Given the description of an element on the screen output the (x, y) to click on. 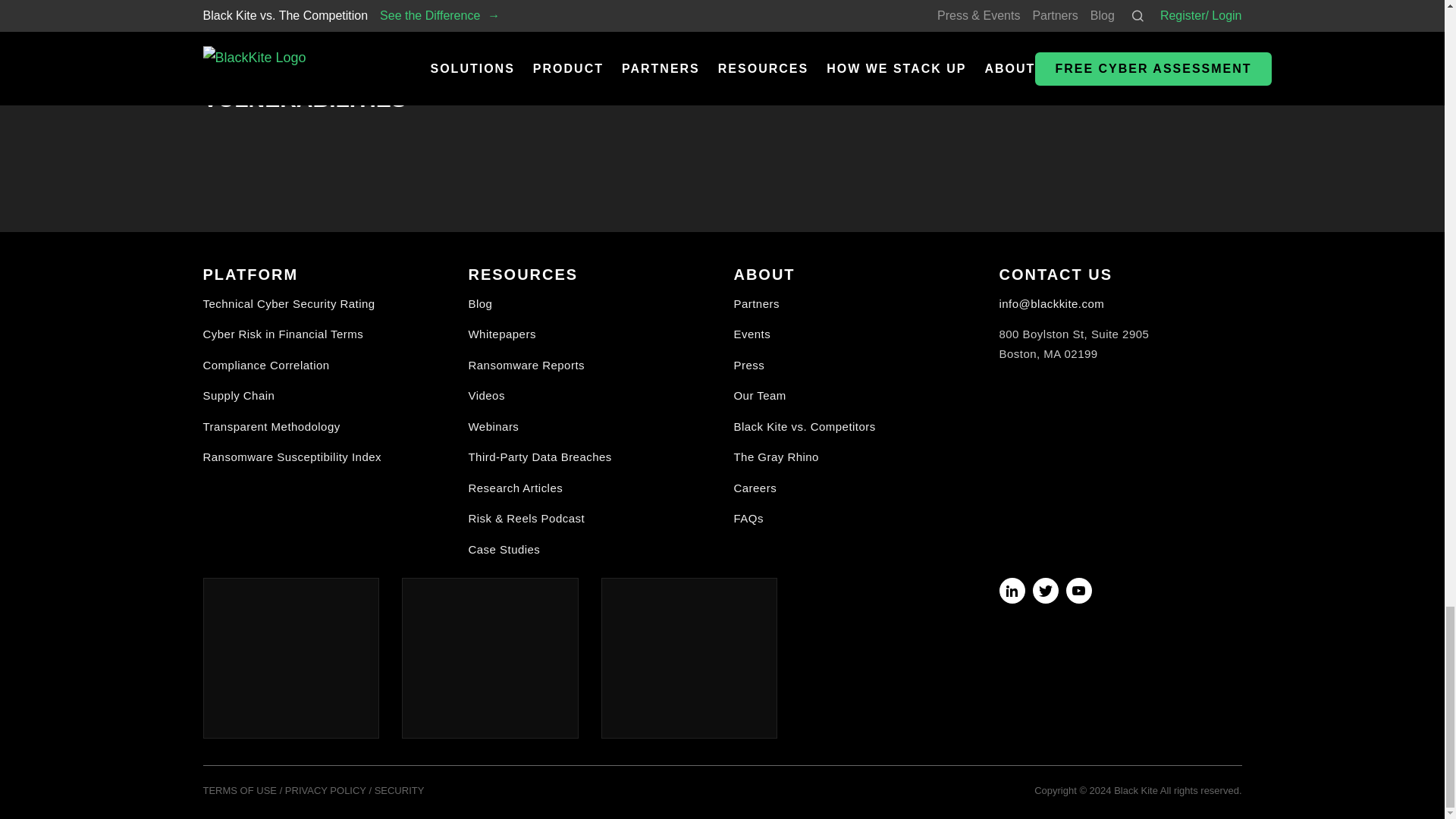
CrowdStrike Outage: Lessons on Fragility and Resilience (721, 7)
